Given the description of an element on the screen output the (x, y) to click on. 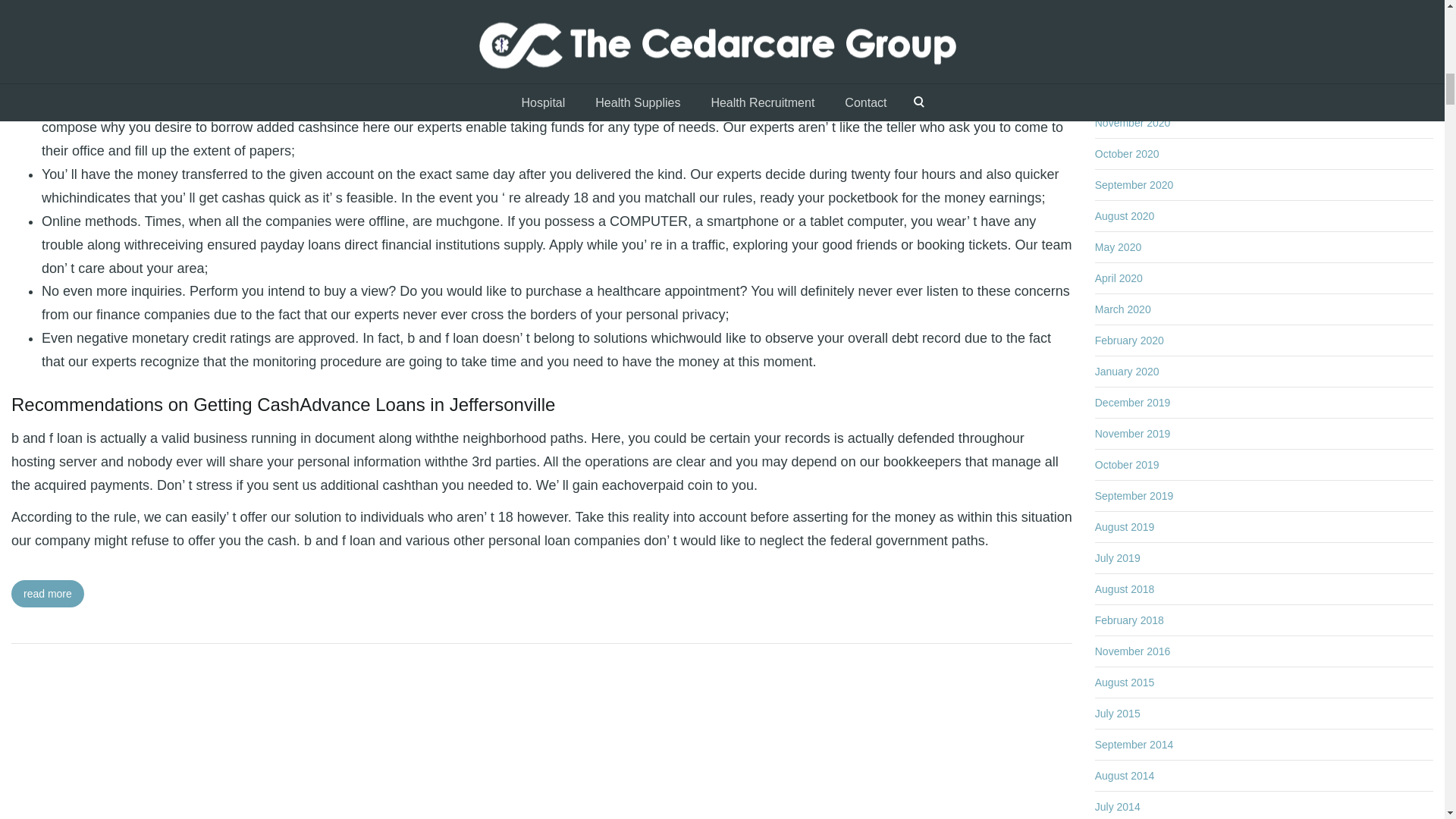
read more (47, 593)
